Given the description of an element on the screen output the (x, y) to click on. 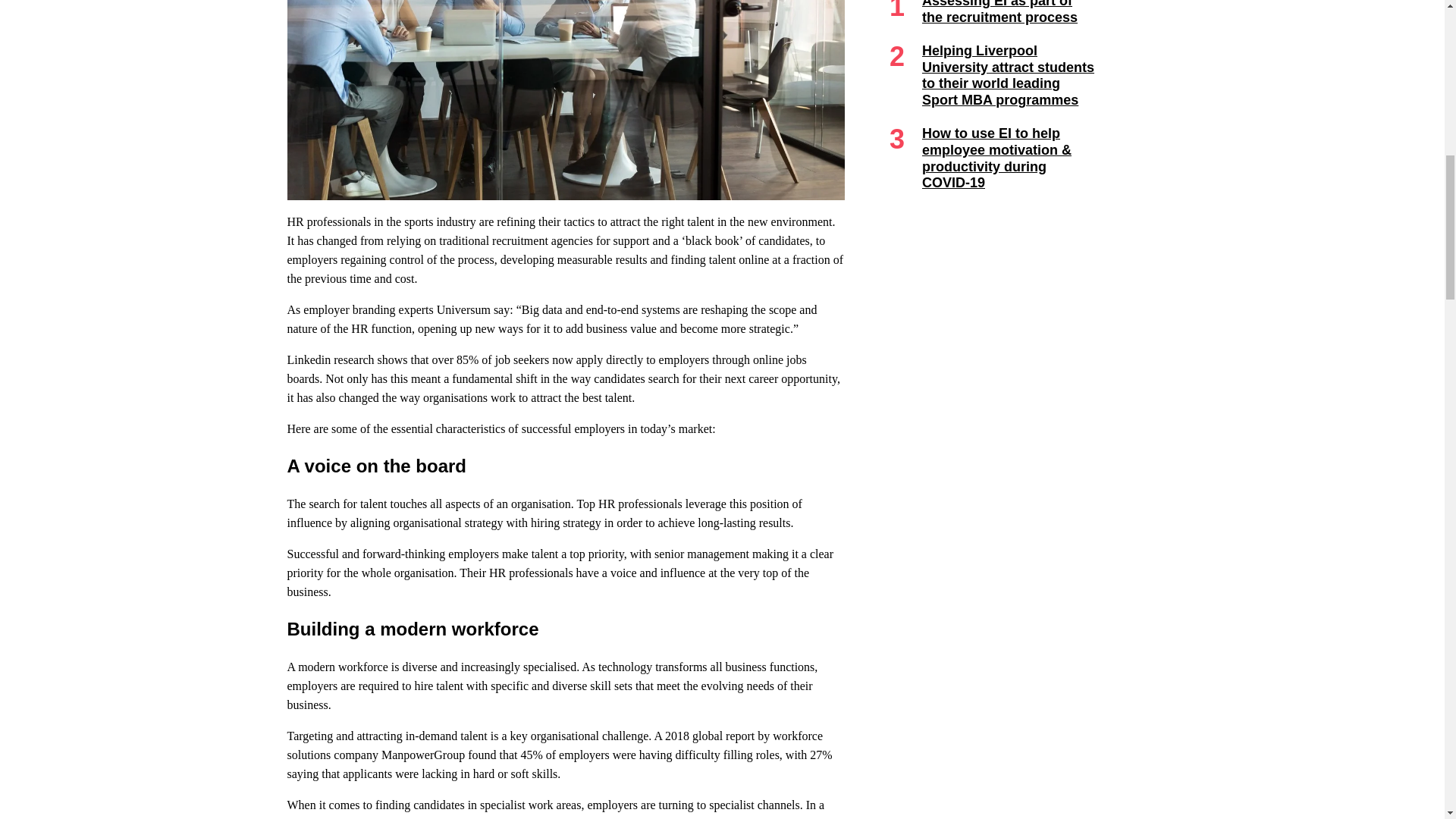
Assessing EI as part of the recruitment process (999, 12)
